Given the description of an element on the screen output the (x, y) to click on. 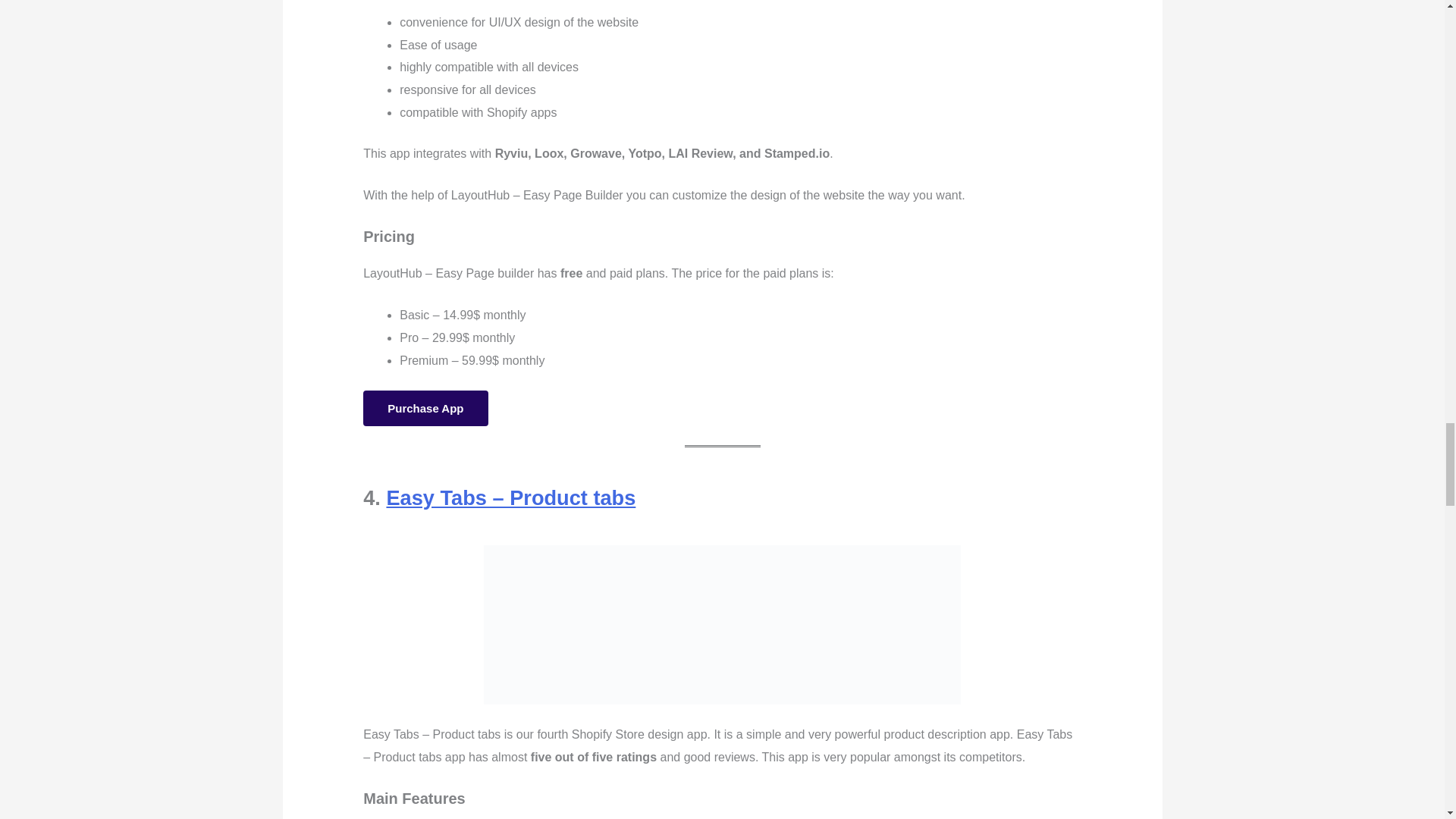
easy-tabs-product-tabs-shopify-app (721, 624)
